Given the description of an element on the screen output the (x, y) to click on. 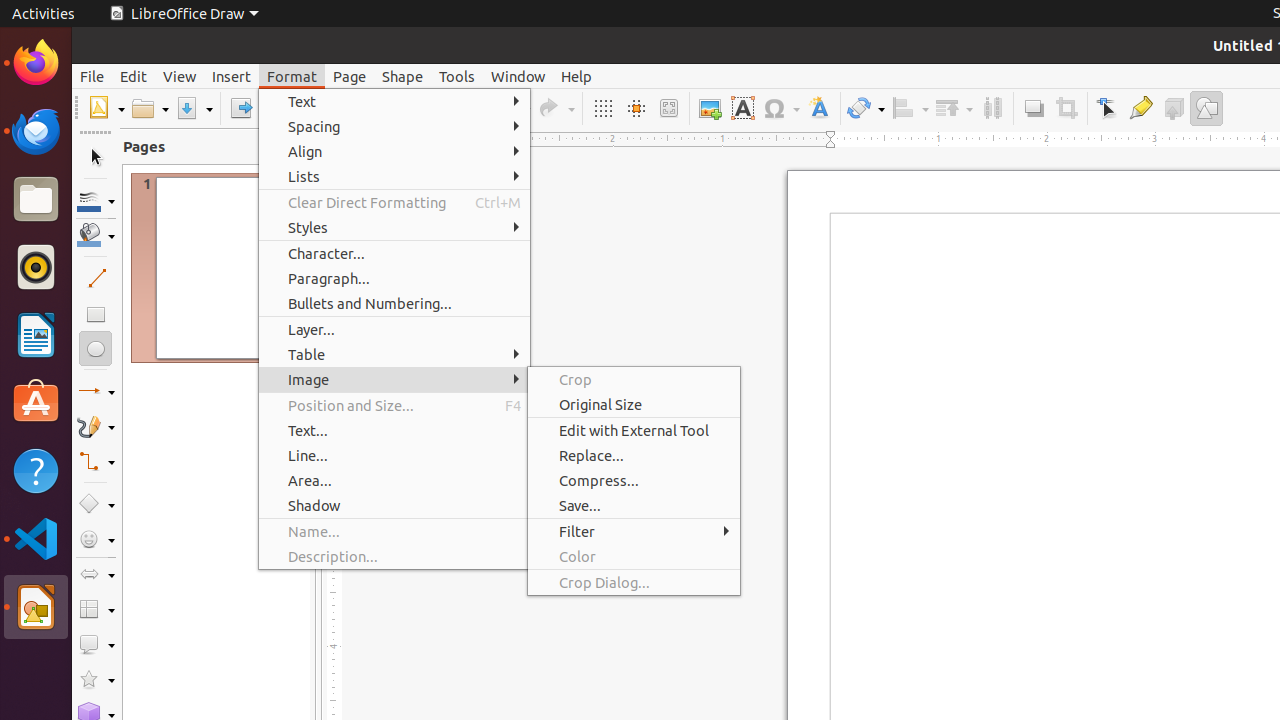
Window Element type: menu (518, 76)
Edit Element type: menu (133, 76)
Name... Element type: menu-item (394, 531)
Zoom & Pan Element type: push-button (668, 108)
Text... Element type: menu-item (394, 430)
